Given the description of an element on the screen output the (x, y) to click on. 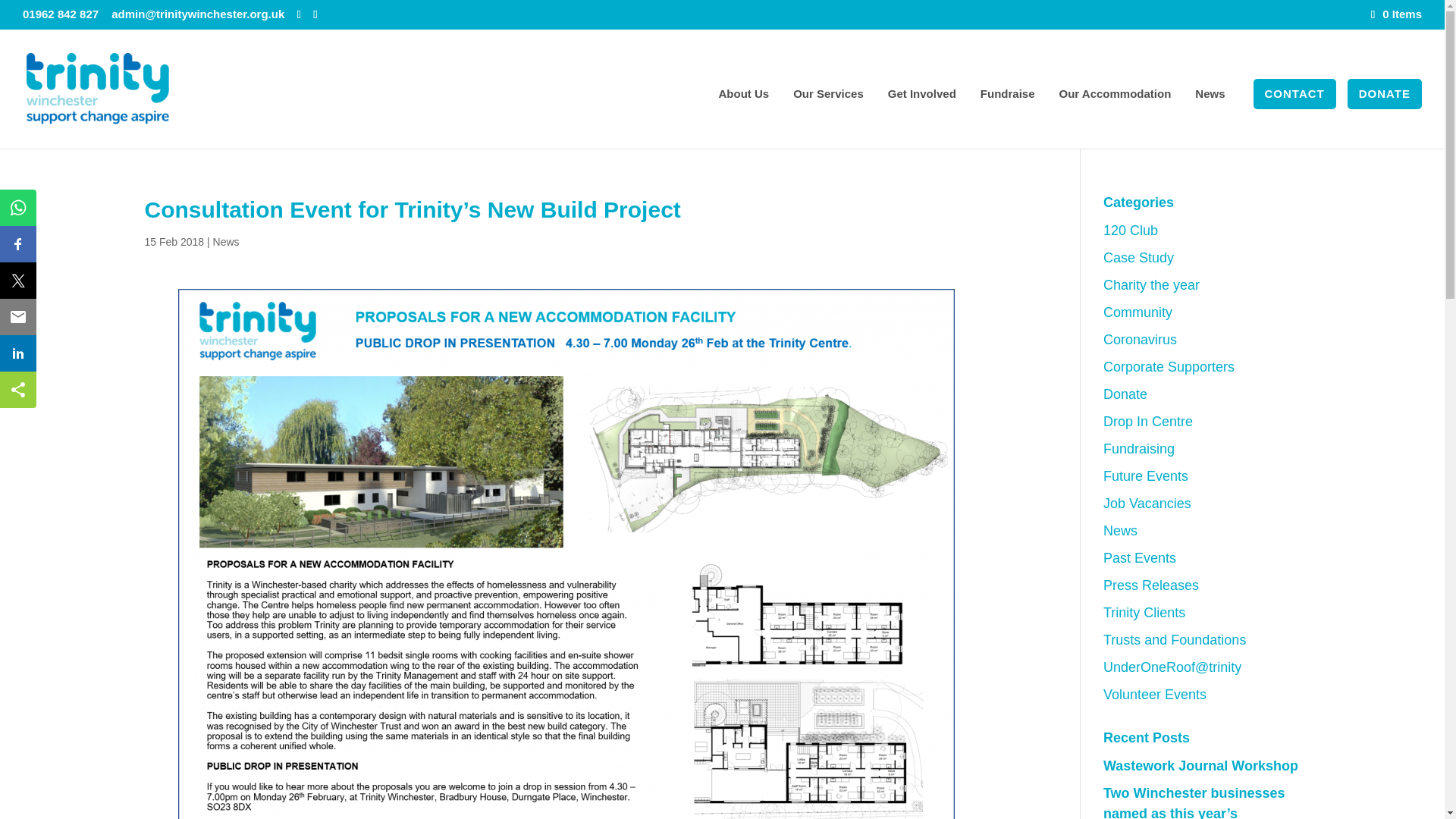
Our Services (836, 117)
Get Involved (929, 117)
About Us (751, 117)
Fundraise (1014, 117)
Our Accommodation (1122, 117)
CONTACT (1294, 117)
0 Items (1396, 13)
